Given the description of an element on the screen output the (x, y) to click on. 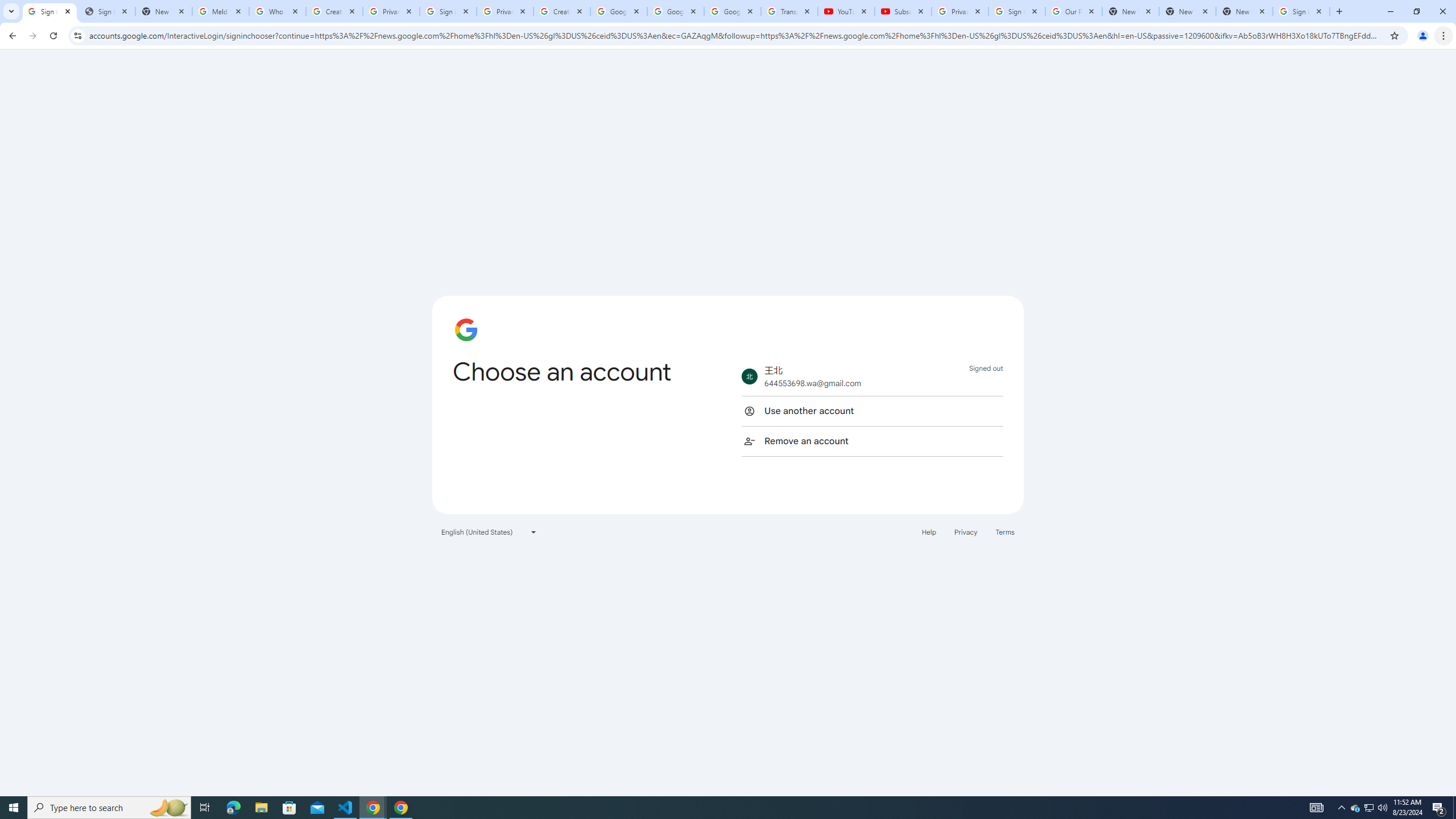
Subscriptions - YouTube (902, 11)
Sign in - Google Accounts (1015, 11)
Remove an account (871, 440)
Sign in - Google Accounts (1301, 11)
YouTube (845, 11)
